Given the description of an element on the screen output the (x, y) to click on. 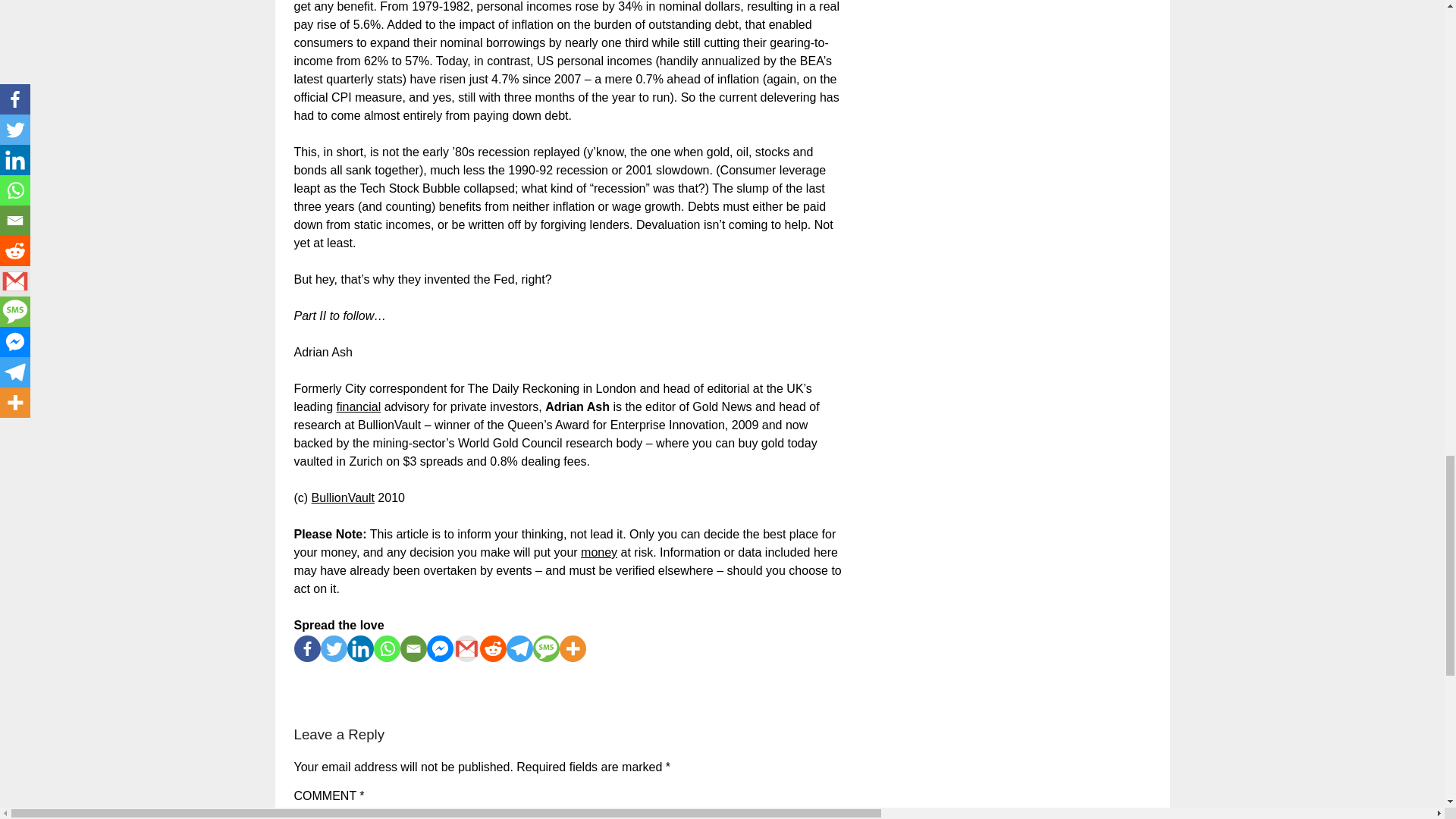
Google Gmail (466, 648)
Telegram (519, 648)
Twitter (333, 648)
Email (413, 648)
SMS (545, 648)
financial (358, 406)
Reddit (492, 648)
BullionVault (342, 497)
Linkedin (360, 648)
Whatsapp (385, 648)
money (598, 552)
Facebook (307, 648)
More (572, 648)
